Given the description of an element on the screen output the (x, y) to click on. 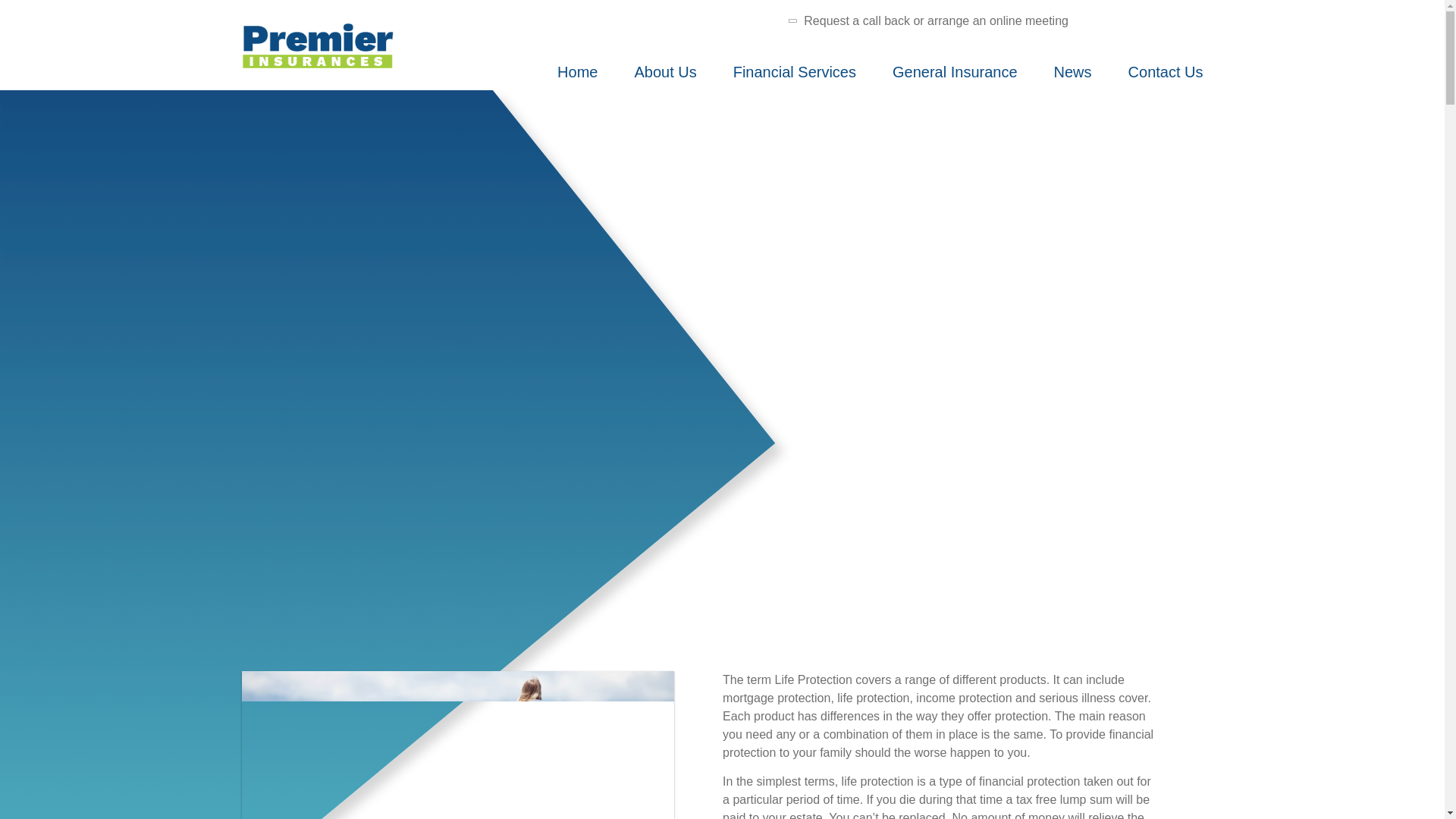
General Insurance (954, 76)
News (1073, 76)
Home (576, 76)
Request a call back or arrange an online meeting (929, 20)
Request a callback (929, 20)
Home (576, 76)
Contact Us (1166, 76)
About Us (664, 76)
Financial Services (794, 76)
Financial Services (794, 76)
